Given the description of an element on the screen output the (x, y) to click on. 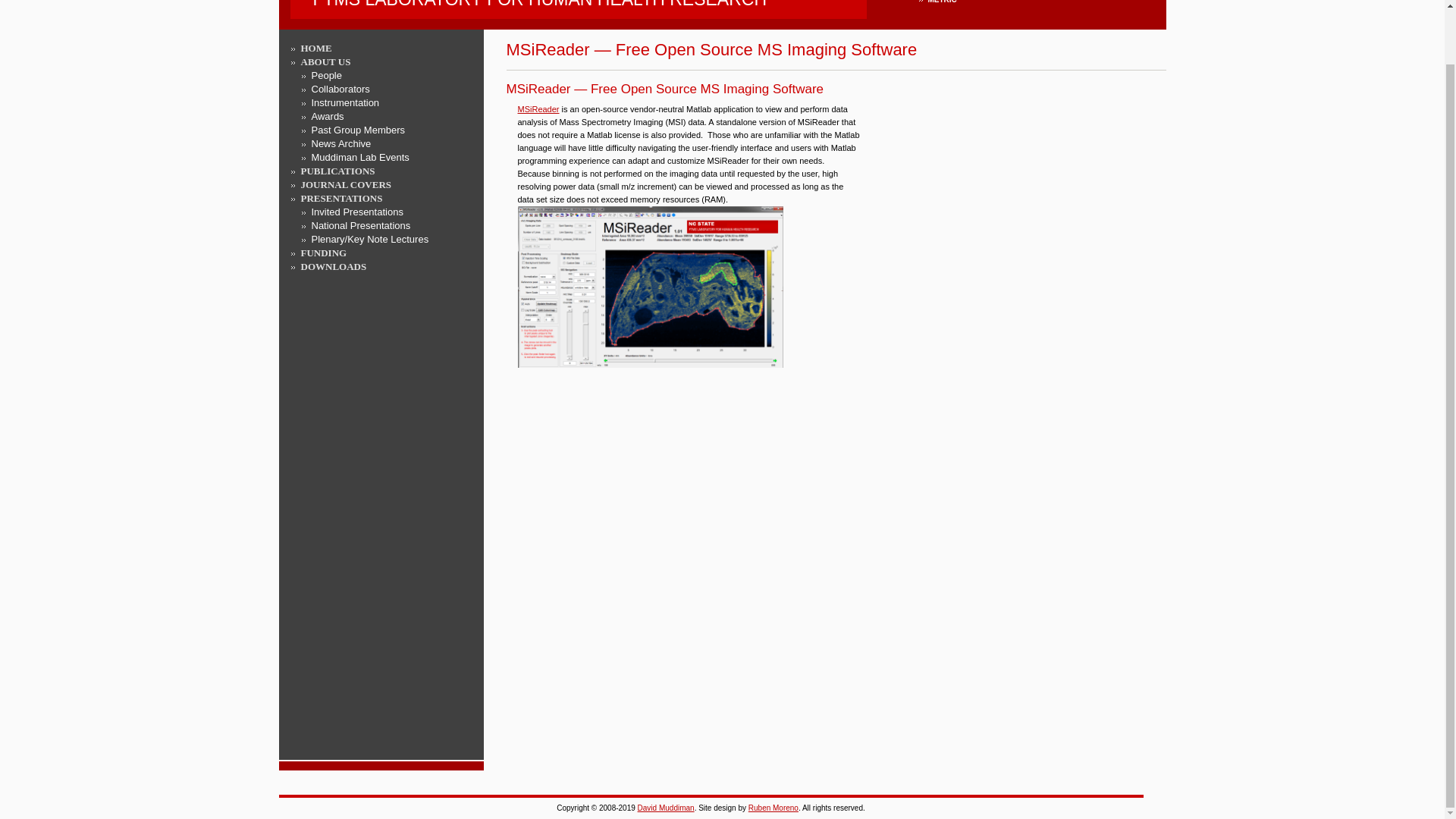
People (325, 75)
Awards (327, 116)
Collaborators (340, 89)
Invited Presentations (357, 211)
David Muddiman (665, 807)
ABOUT US (324, 61)
FUNDING (578, 6)
Past Group Members (322, 252)
National Presentations (357, 129)
